Given the description of an element on the screen output the (x, y) to click on. 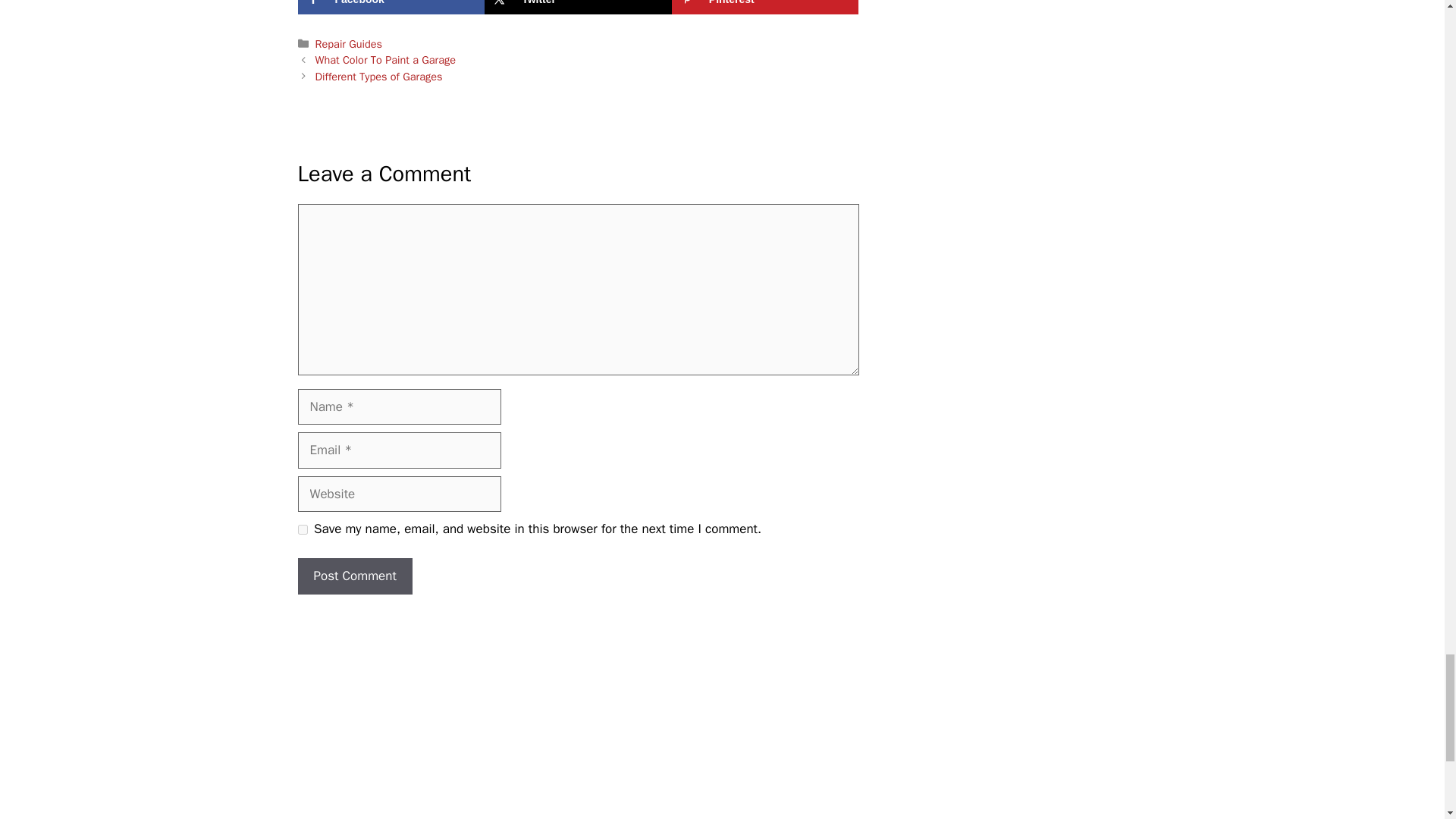
yes (302, 529)
Post Comment (354, 575)
